Given the description of an element on the screen output the (x, y) to click on. 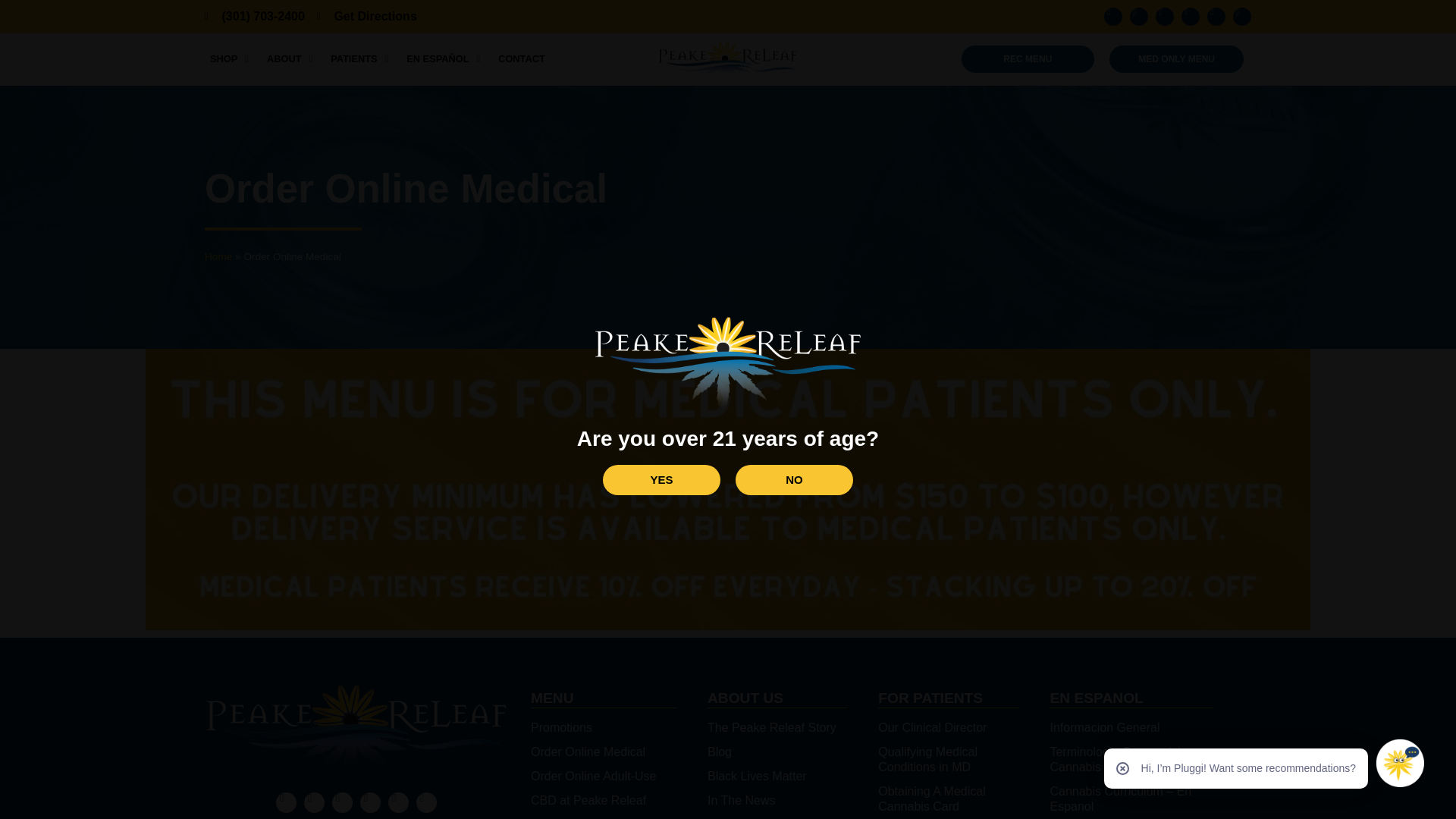
CONTACT (521, 58)
Get Directions (366, 16)
SHOP (229, 58)
ABOUT (289, 58)
PATIENTS (358, 58)
